Given the description of an element on the screen output the (x, y) to click on. 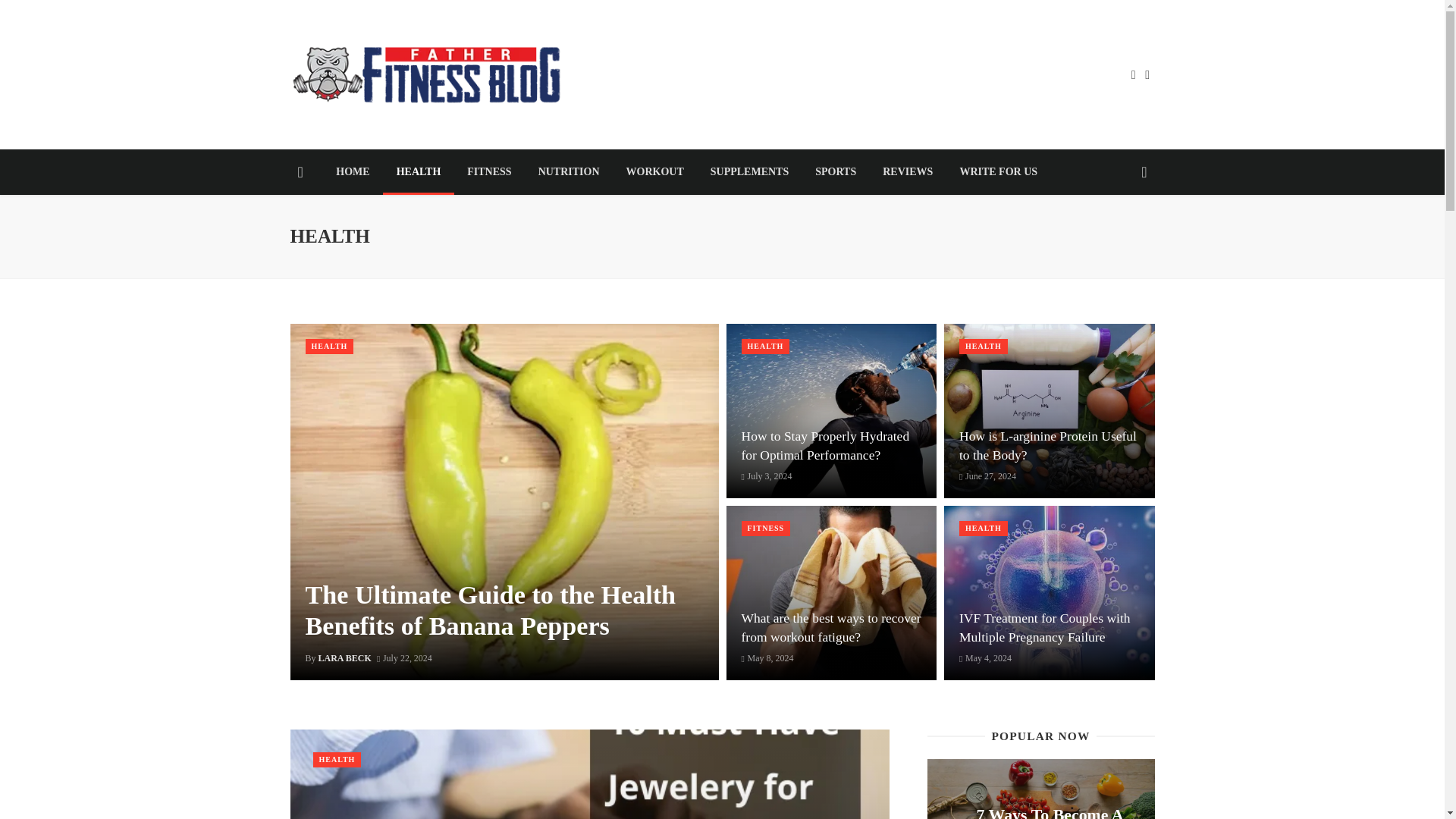
SUPPLEMENTS (749, 171)
May 4, 2024 at 10:18 am (985, 657)
May 8, 2024 at 1:58 pm (767, 657)
What are the best ways to recover from workout fatigue? (831, 627)
IVF Treatment for Couples with Multiple Pregnancy Failure (1049, 627)
REVIEWS (907, 171)
HOME (352, 171)
HEALTH (418, 171)
HEALTH (765, 346)
The Ultimate Guide to the Health Benefits of Banana Peppers (503, 610)
